Given the description of an element on the screen output the (x, y) to click on. 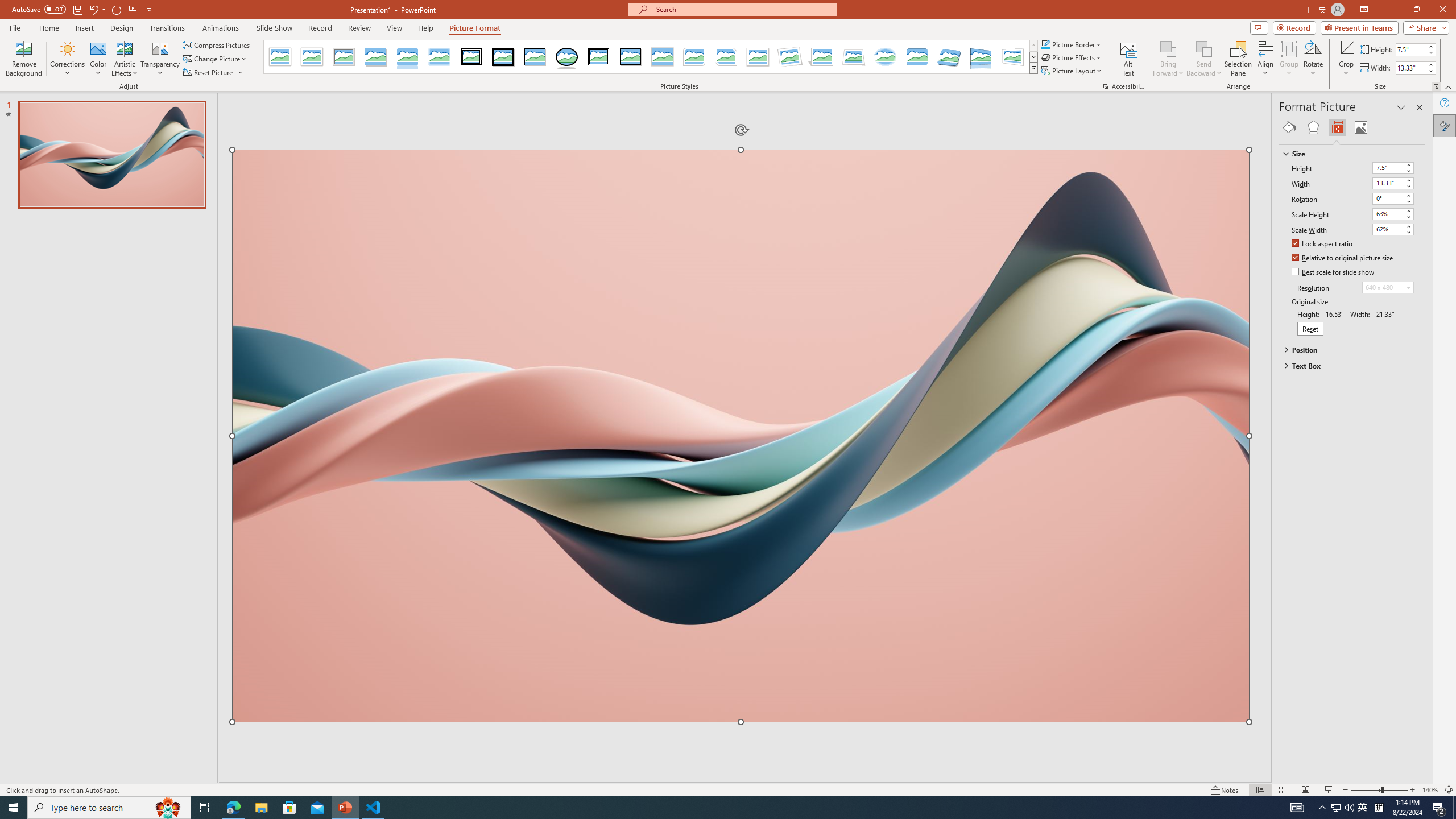
Group (1288, 58)
AutomationID: PictureStylesGallery (650, 56)
Slide Show (1328, 790)
Moderate Frame, White (758, 56)
Selection Pane... (1238, 58)
Class: MsoCommandBar (728, 789)
Relative to original picture size (1342, 258)
Soft Edge Oval (885, 56)
More (1430, 64)
Beveled Oval, Black (566, 56)
Thick Matte, Black (503, 56)
Class: NetUIScrollBar (1420, 460)
Bevel Perspective (949, 56)
Reset (1310, 328)
Picture Effects (1072, 56)
